Given the description of an element on the screen output the (x, y) to click on. 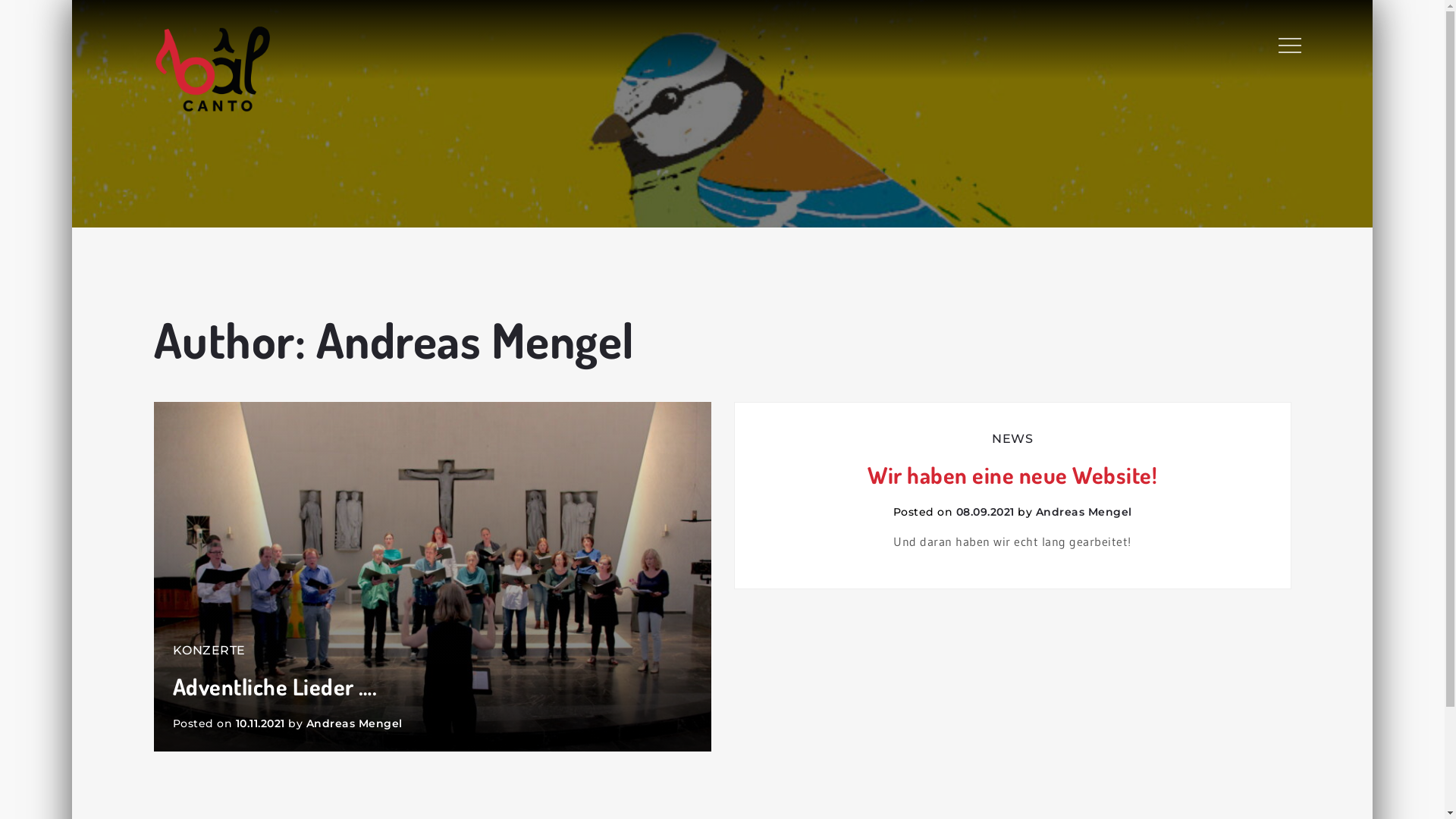
10.11.2021 Element type: text (259, 723)
08.09.2021 Element type: text (984, 511)
Andreas Mengel Element type: text (1083, 511)
Andreas Mengel Element type: text (354, 723)
NEWS Element type: text (1011, 438)
Menu Element type: text (1288, 45)
KONZERTE Element type: text (208, 650)
Wir haben eine neue Website! Element type: text (1012, 474)
